Given the description of an element on the screen output the (x, y) to click on. 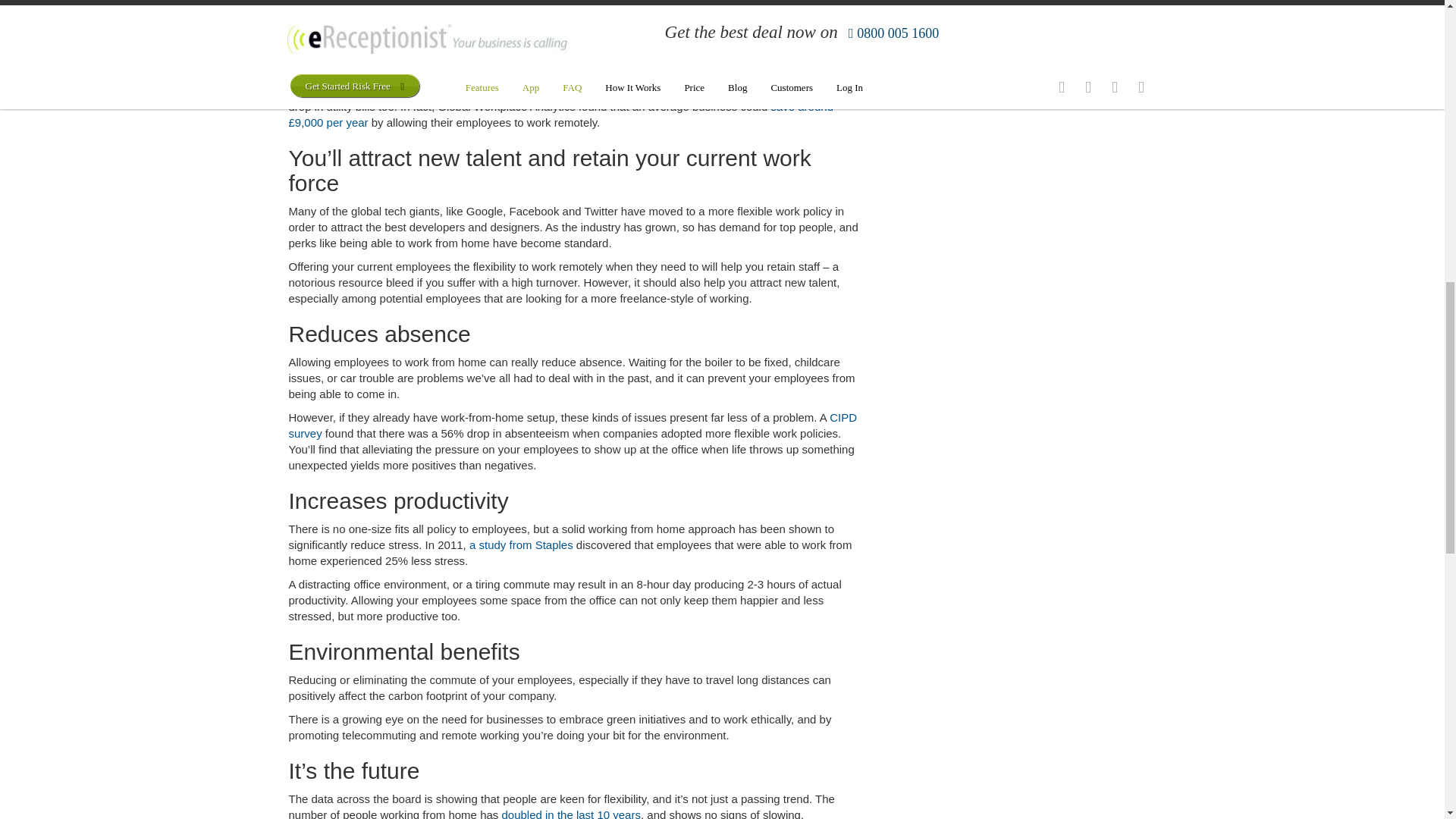
a study from Staples (520, 544)
CIPD survey (572, 425)
doubled in the last 10 years (570, 813)
